Given the description of an element on the screen output the (x, y) to click on. 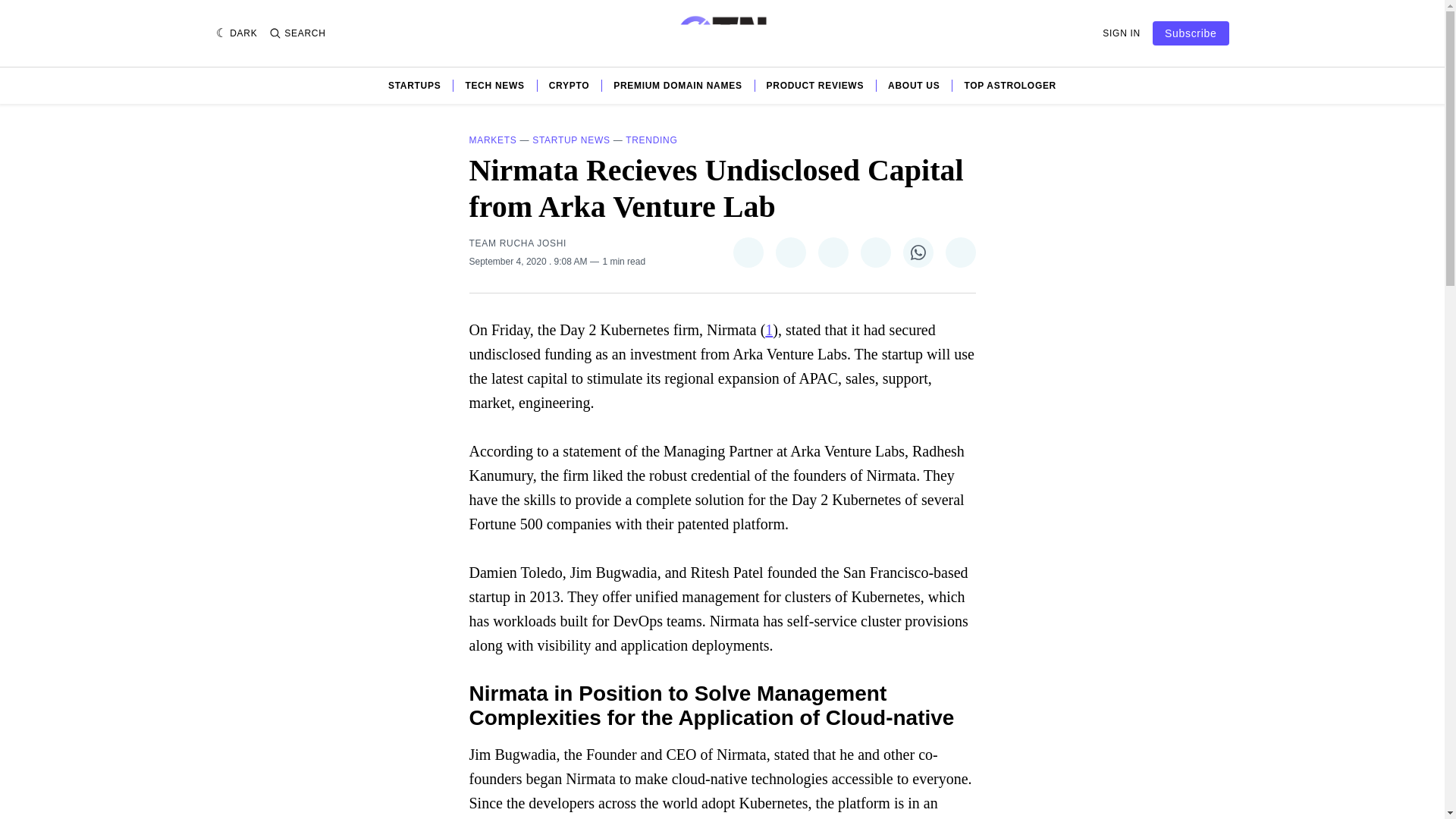
CRYPTO (568, 85)
Share on Twitter (747, 252)
TOP ASTROLOGER (1010, 85)
Subscribe (1190, 33)
PREMIUM DOMAIN NAMES (676, 85)
STARTUPS (414, 85)
Share on LinkedIn (874, 252)
Share on Pinterest (831, 252)
ABOUT US (913, 85)
SEARCH (296, 33)
STARTUP NEWS (571, 140)
DARK (236, 32)
TECH NEWS (494, 85)
MARKETS (492, 140)
PRODUCT REVIEWS (815, 85)
